Given the description of an element on the screen output the (x, y) to click on. 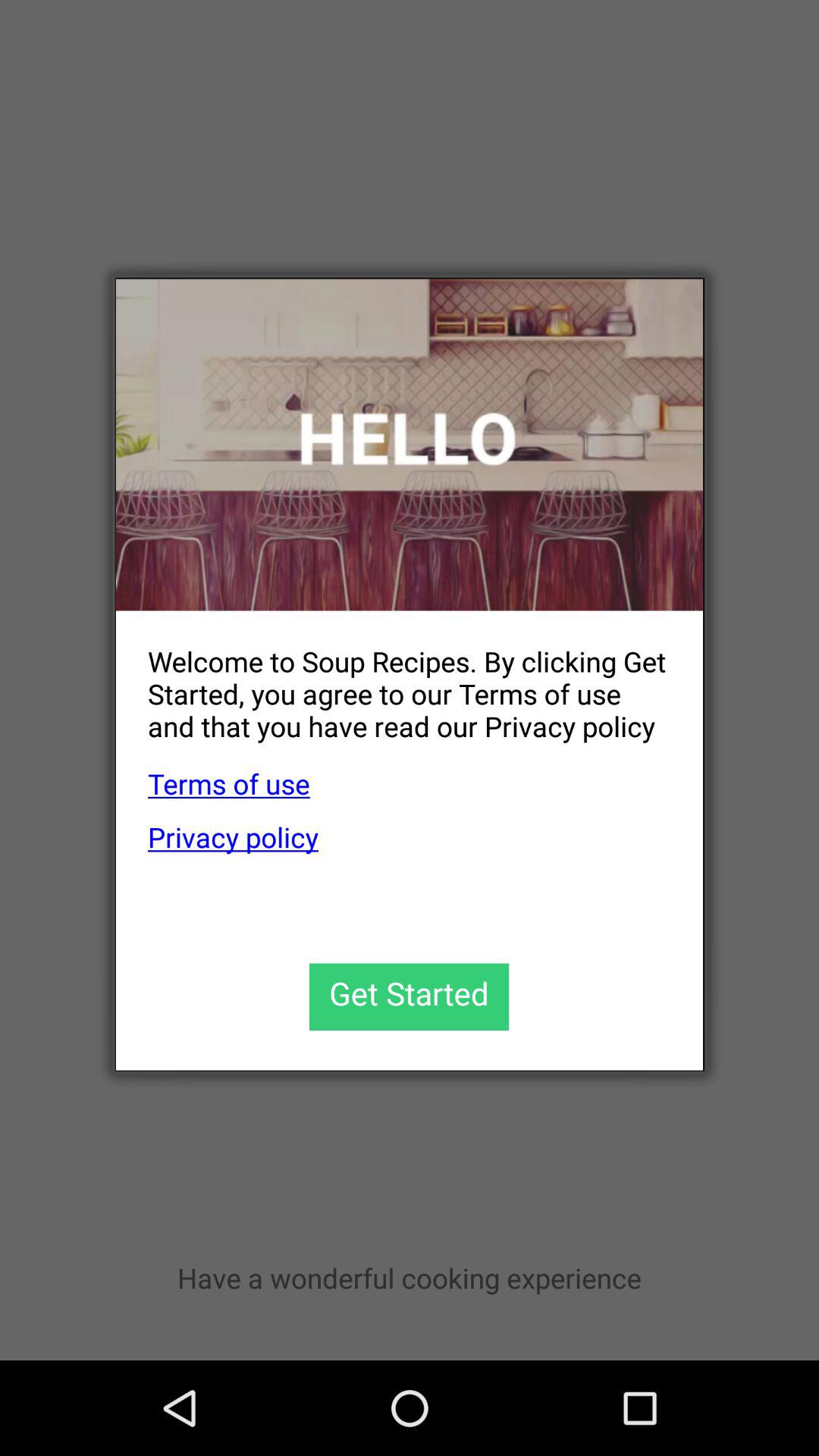
turn on icon at the top (409, 444)
